Given the description of an element on the screen output the (x, y) to click on. 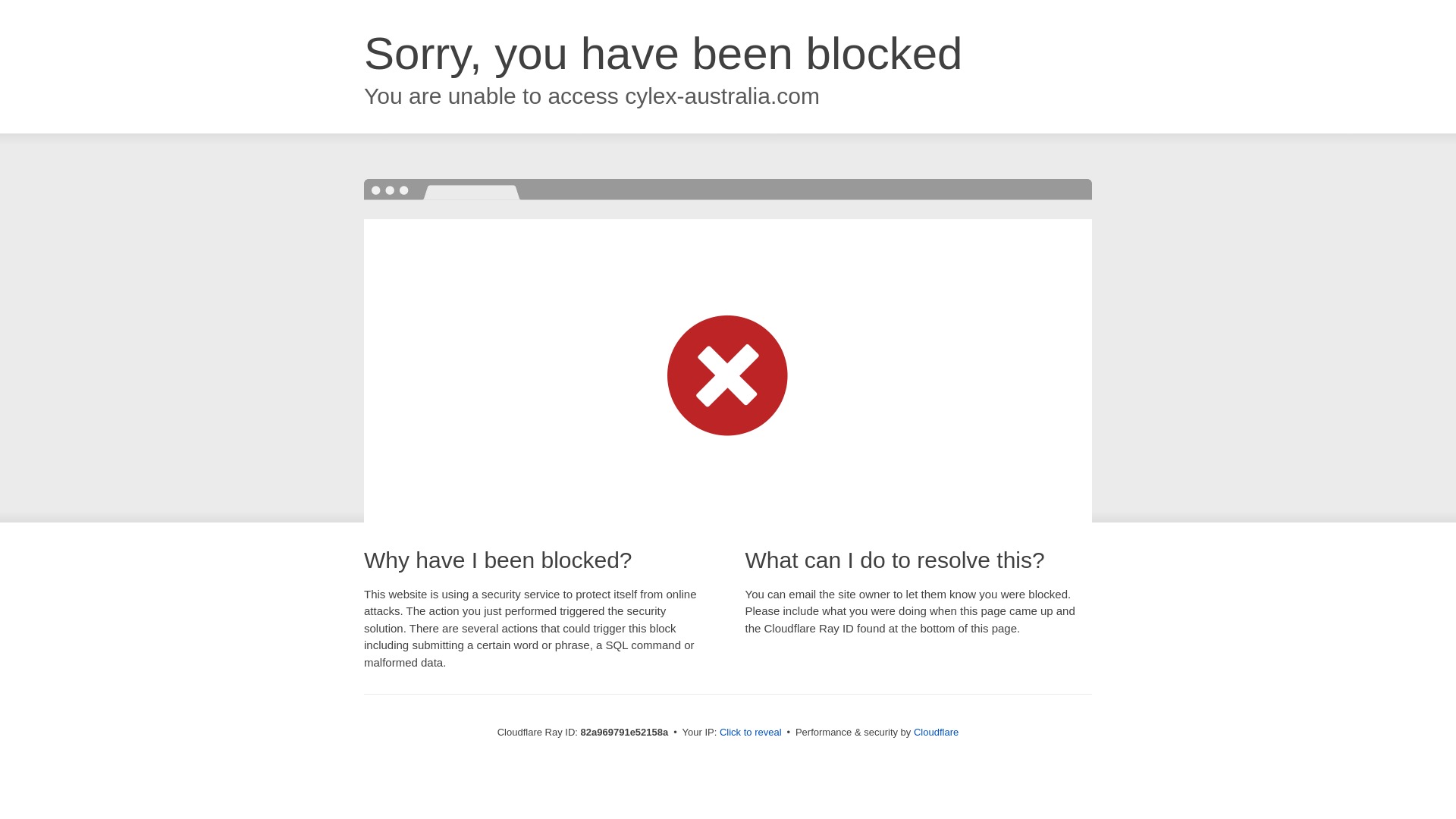
Cloudflare Element type: text (935, 731)
Click to reveal Element type: text (750, 732)
